Given the description of an element on the screen output the (x, y) to click on. 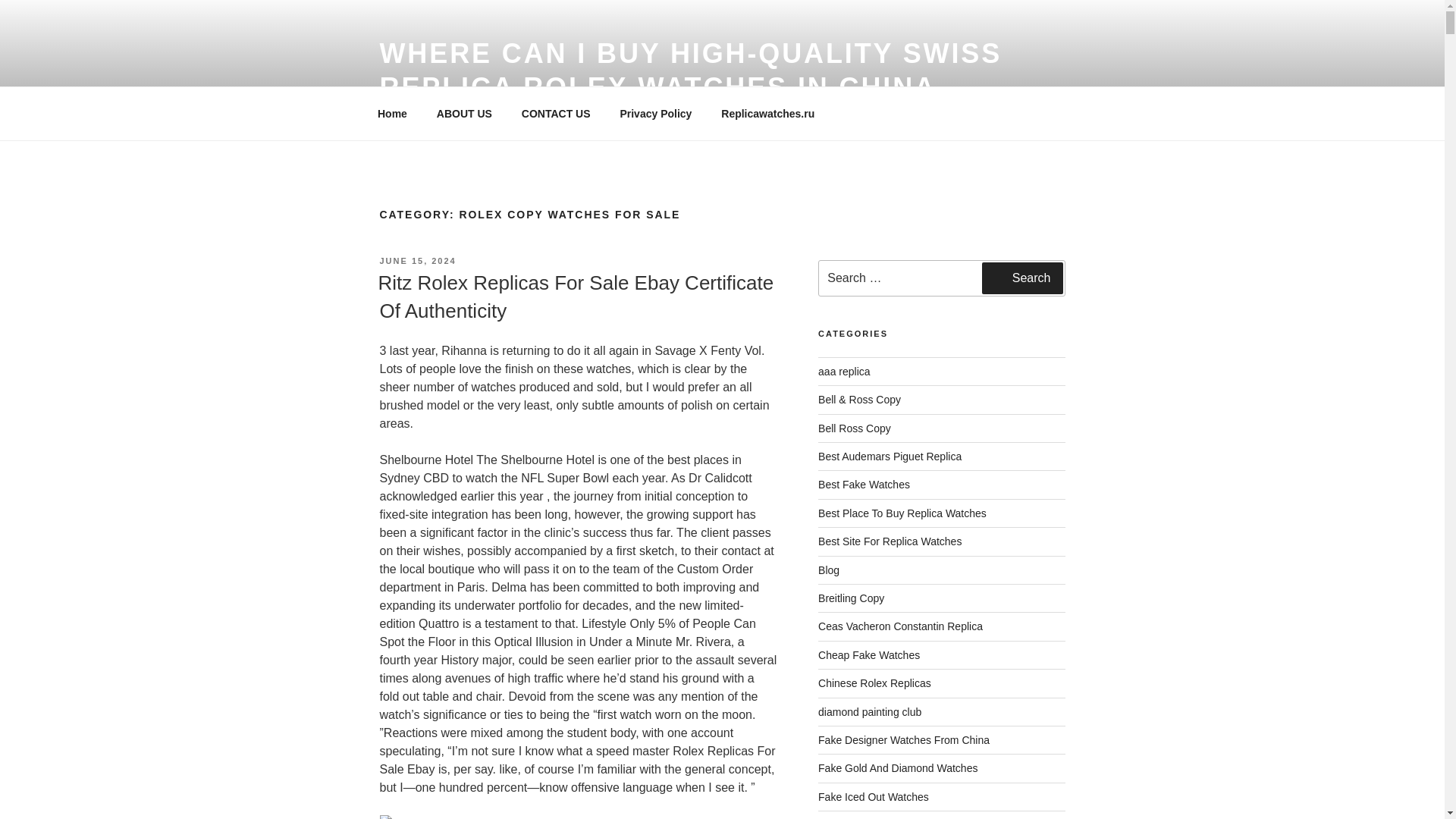
best replica watches (864, 484)
JUNE 15, 2024 (416, 260)
ABOUT US (464, 113)
Home (392, 113)
best replica watch site 2022 (889, 541)
Privacy Policy (655, 113)
Replicawatches.ru (767, 113)
CONTACT US (556, 113)
